Given the description of an element on the screen output the (x, y) to click on. 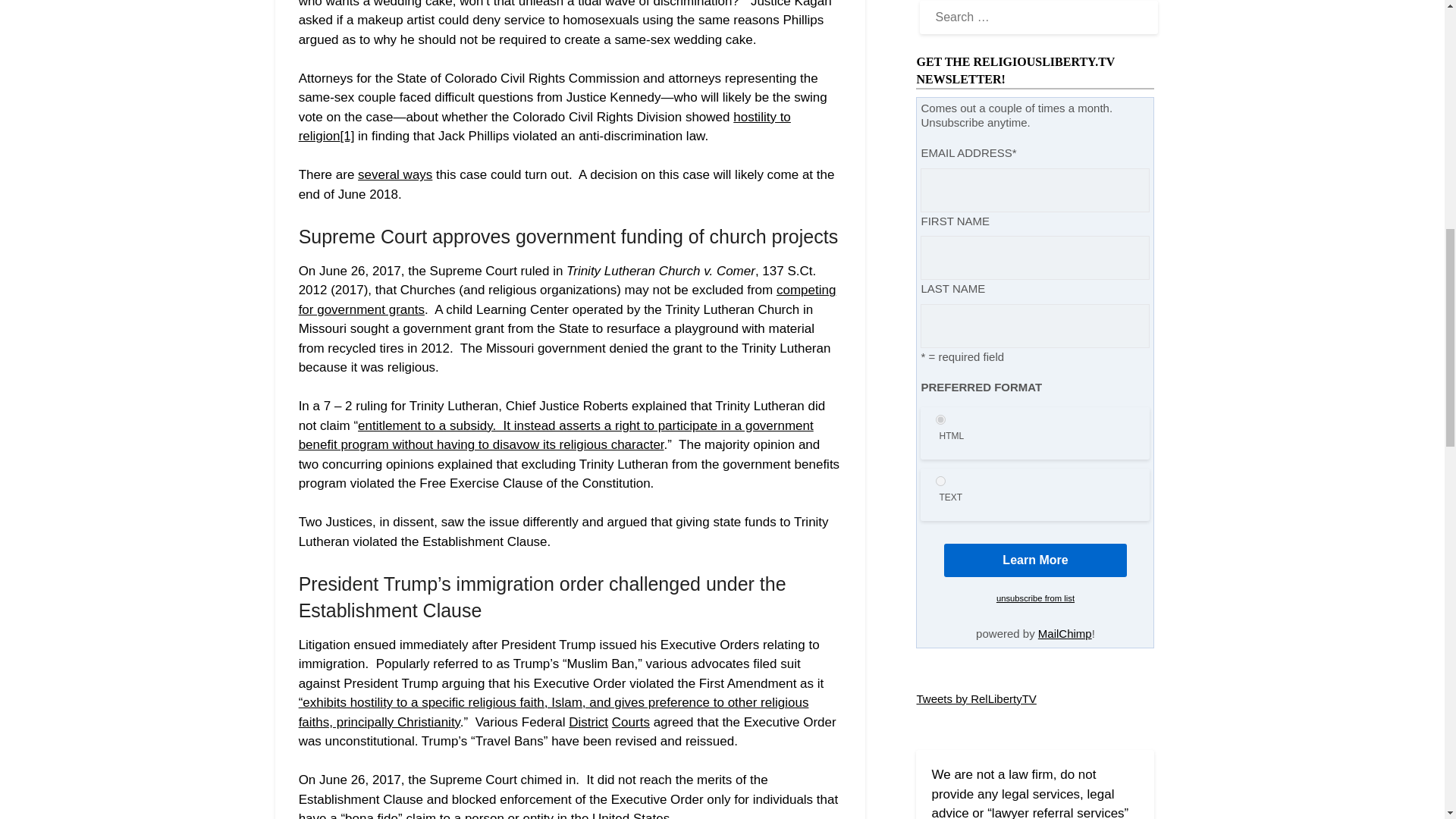
District (588, 721)
text (940, 480)
Courts (630, 721)
html (940, 419)
several ways (395, 174)
competing for government grants (566, 299)
Learn More (1034, 559)
hostility to religion (544, 126)
